Given the description of an element on the screen output the (x, y) to click on. 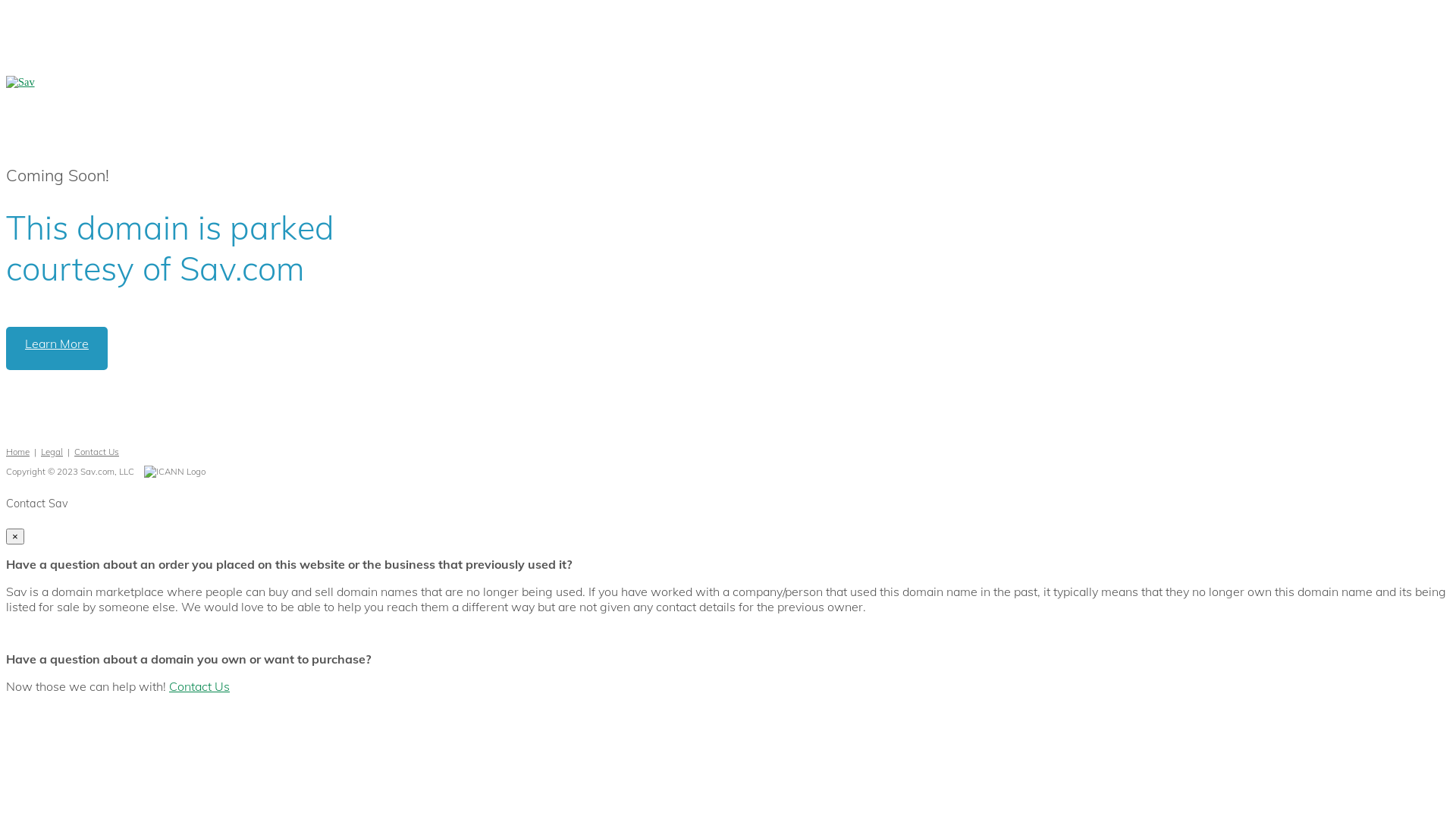
Contact Us Element type: text (199, 685)
Contact Us Element type: text (96, 451)
Legal Element type: text (51, 451)
Learn More Element type: text (56, 348)
Home Element type: text (17, 451)
